Given the description of an element on the screen output the (x, y) to click on. 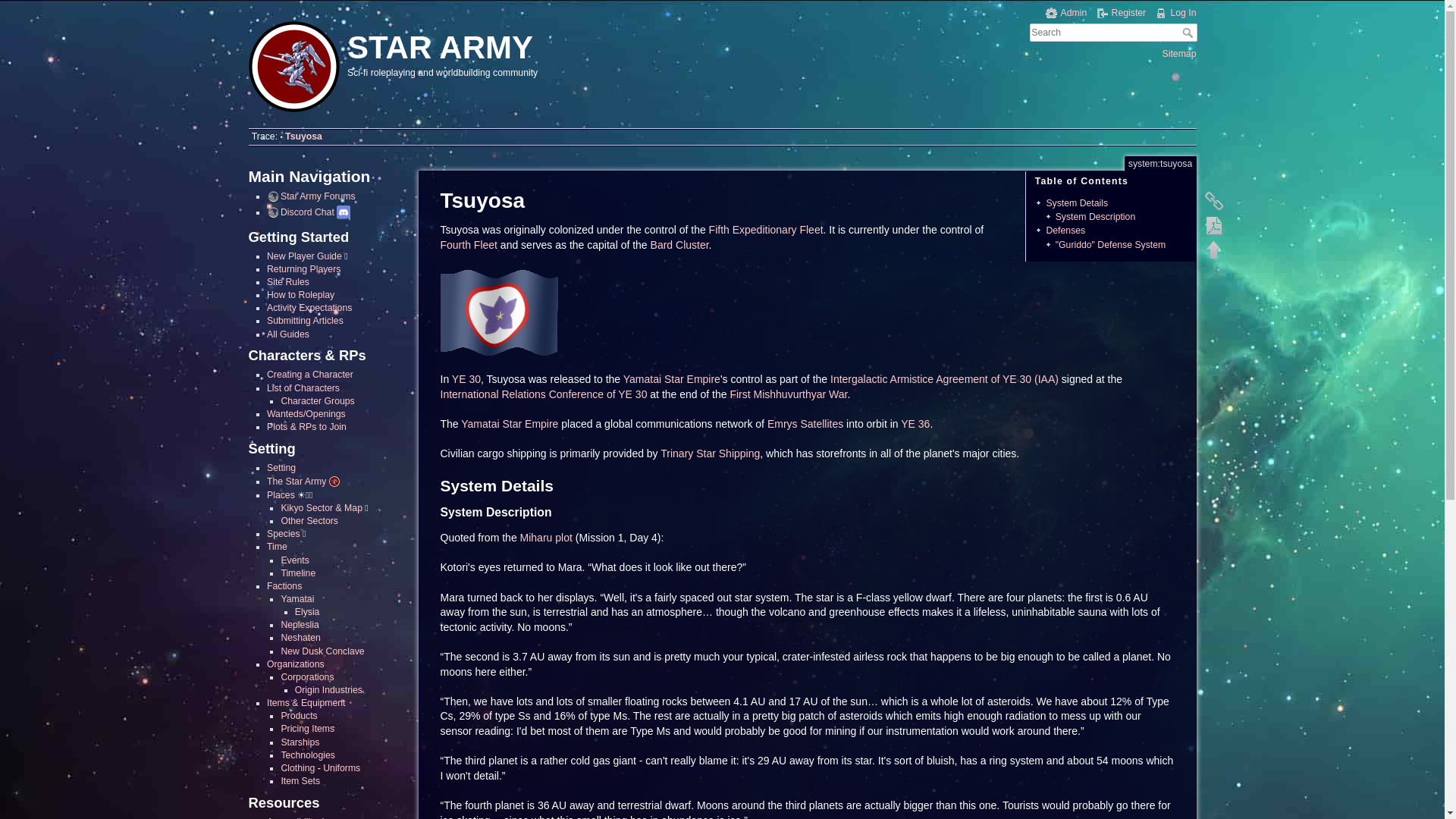
Submitting Articles (304, 320)
Star Army Forums (310, 195)
Corporations (307, 676)
Log In (1174, 12)
Setting (280, 467)
Other Sectors (309, 520)
Creating a Character (309, 374)
Organizations (295, 664)
Species (282, 533)
Sitemap (1178, 53)
Elysia (307, 611)
Discord Chat (300, 212)
List of Characters (302, 388)
STAR ARMY (480, 43)
All Guides (287, 334)
